Given the description of an element on the screen output the (x, y) to click on. 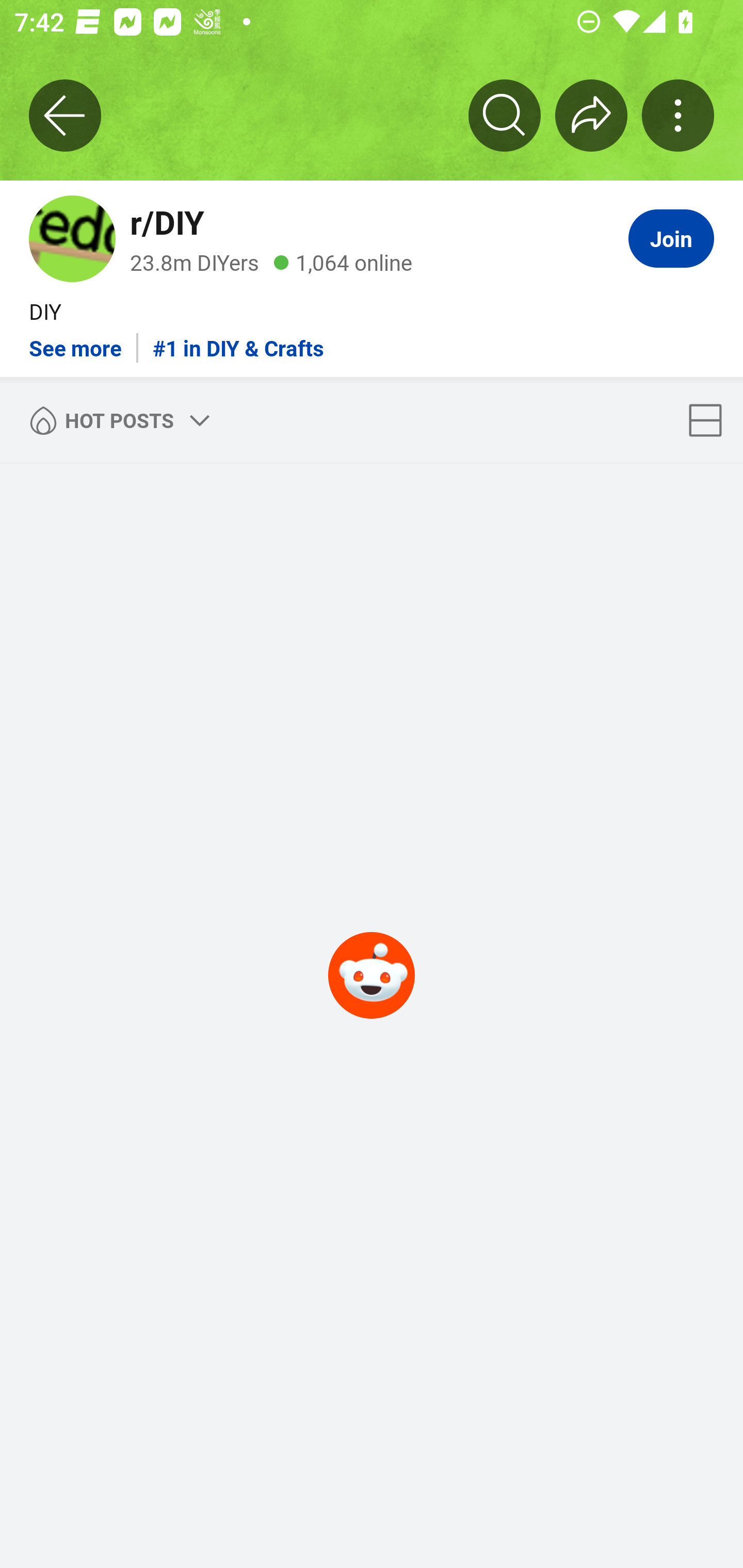
Back (64, 115)
Search r/﻿DIY (504, 115)
Share r/﻿DIY (591, 115)
More community actions (677, 115)
See more (74, 340)
#1 in DIY & Crafts (238, 340)
HOT POSTS Sort by Hot posts (115, 420)
Card display (711, 420)
